Given the description of an element on the screen output the (x, y) to click on. 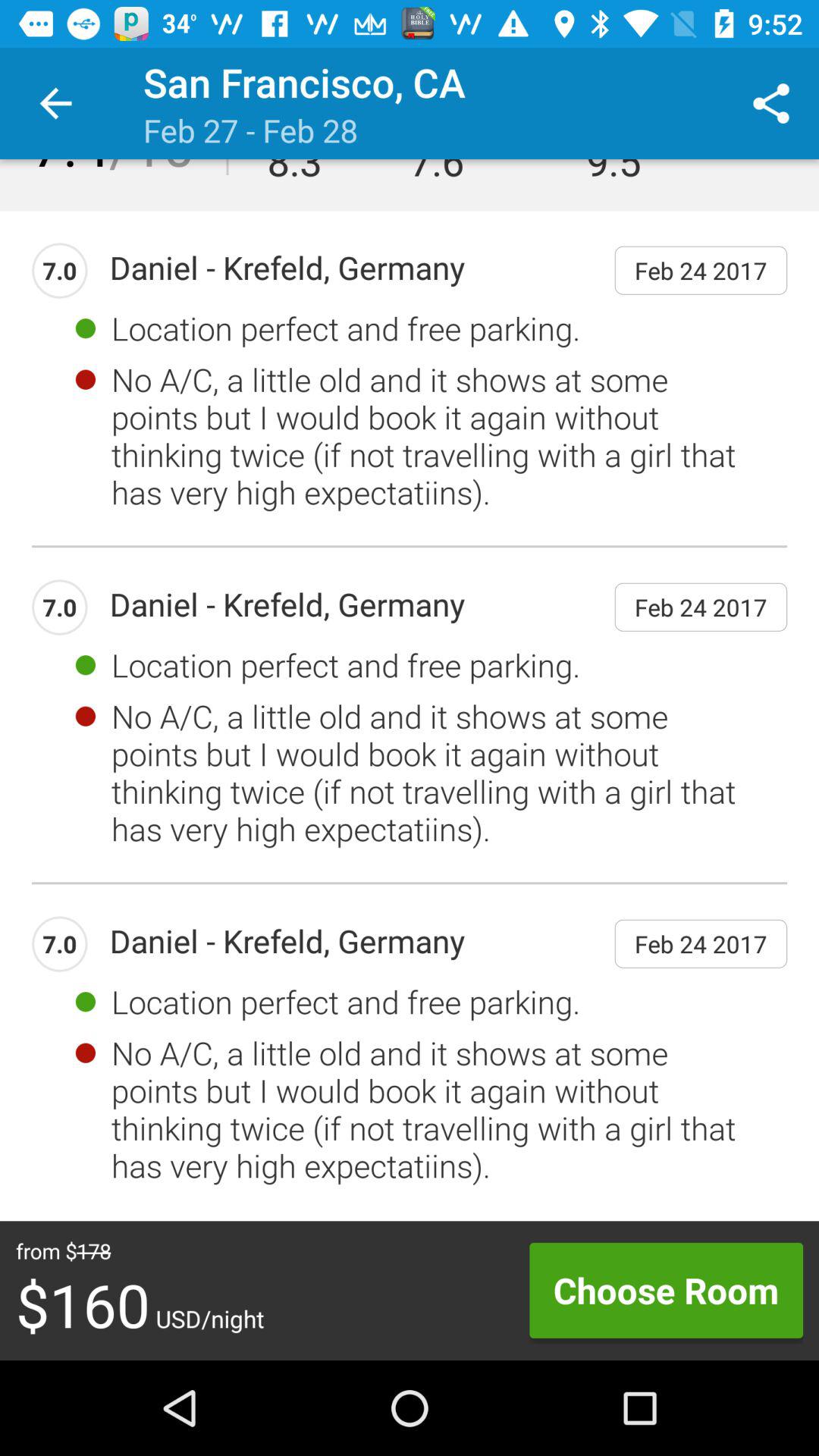
select item below no a c icon (666, 1290)
